Given the description of an element on the screen output the (x, y) to click on. 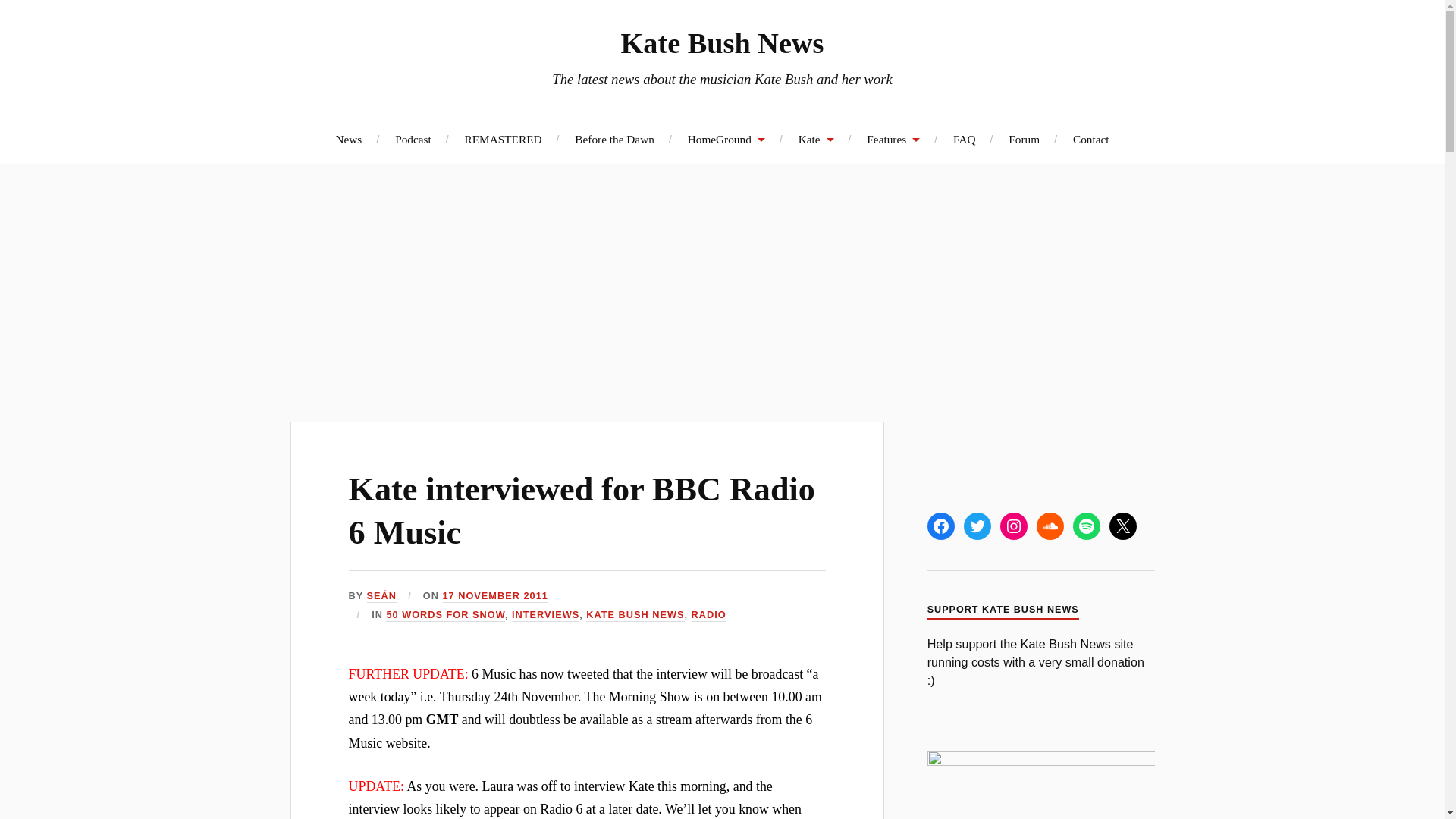
Kate Bush News (722, 42)
